Given the description of an element on the screen output the (x, y) to click on. 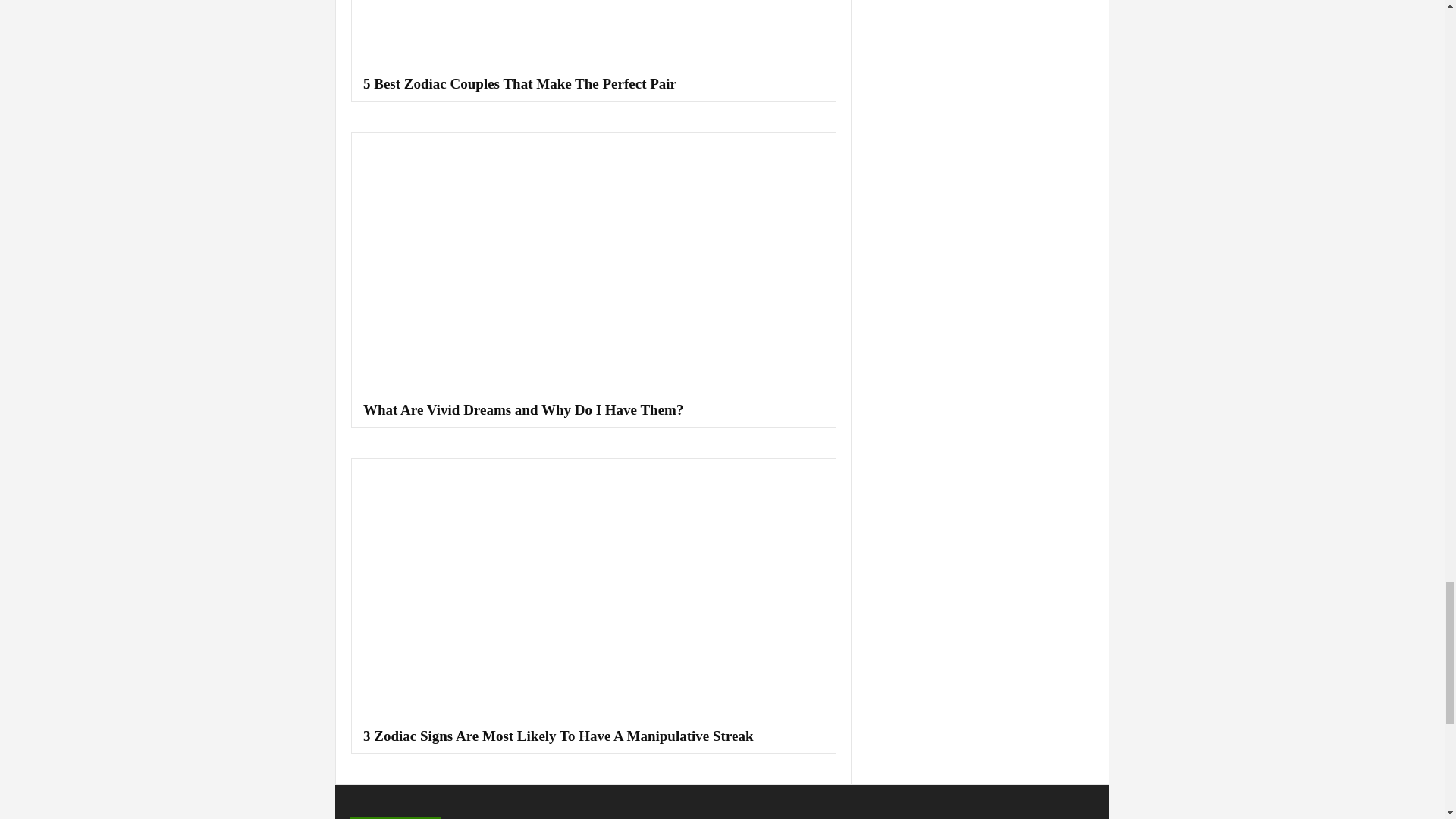
5 Best Zodiac Couples That Make The Perfect Pair (593, 35)
5 Best Zodiac Couples That Make The Perfect Pair (519, 83)
5 Best Zodiac Couples That Make The Perfect Pair (519, 83)
What Are Vivid Dreams and Why Do I Have Them? (522, 409)
What Are Vivid Dreams and Why Do I Have Them? (593, 264)
3 Zodiac Signs Are Most Likely To Have A Manipulative Streak (557, 735)
